Given the description of an element on the screen output the (x, y) to click on. 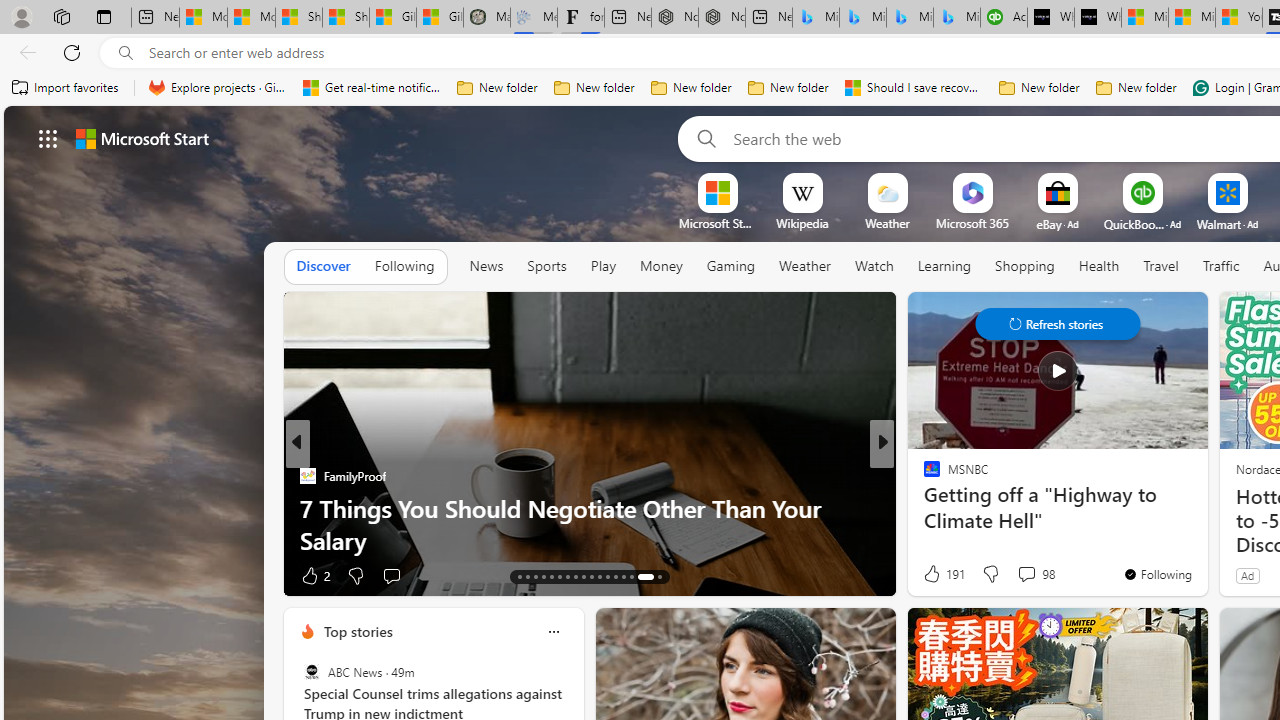
Accounting Software for Accountants, CPAs and Bookkeepers (1003, 17)
Gaming (730, 267)
152 Like (936, 574)
Microsoft Bing Travel - Stays in Bangkok, Bangkok, Thailand (862, 17)
Import favorites (65, 88)
Sports (546, 267)
AutomationID: tab-18 (559, 576)
View comments 98 Comment (1035, 574)
AutomationID: tab-28 (644, 576)
